Given the description of an element on the screen output the (x, y) to click on. 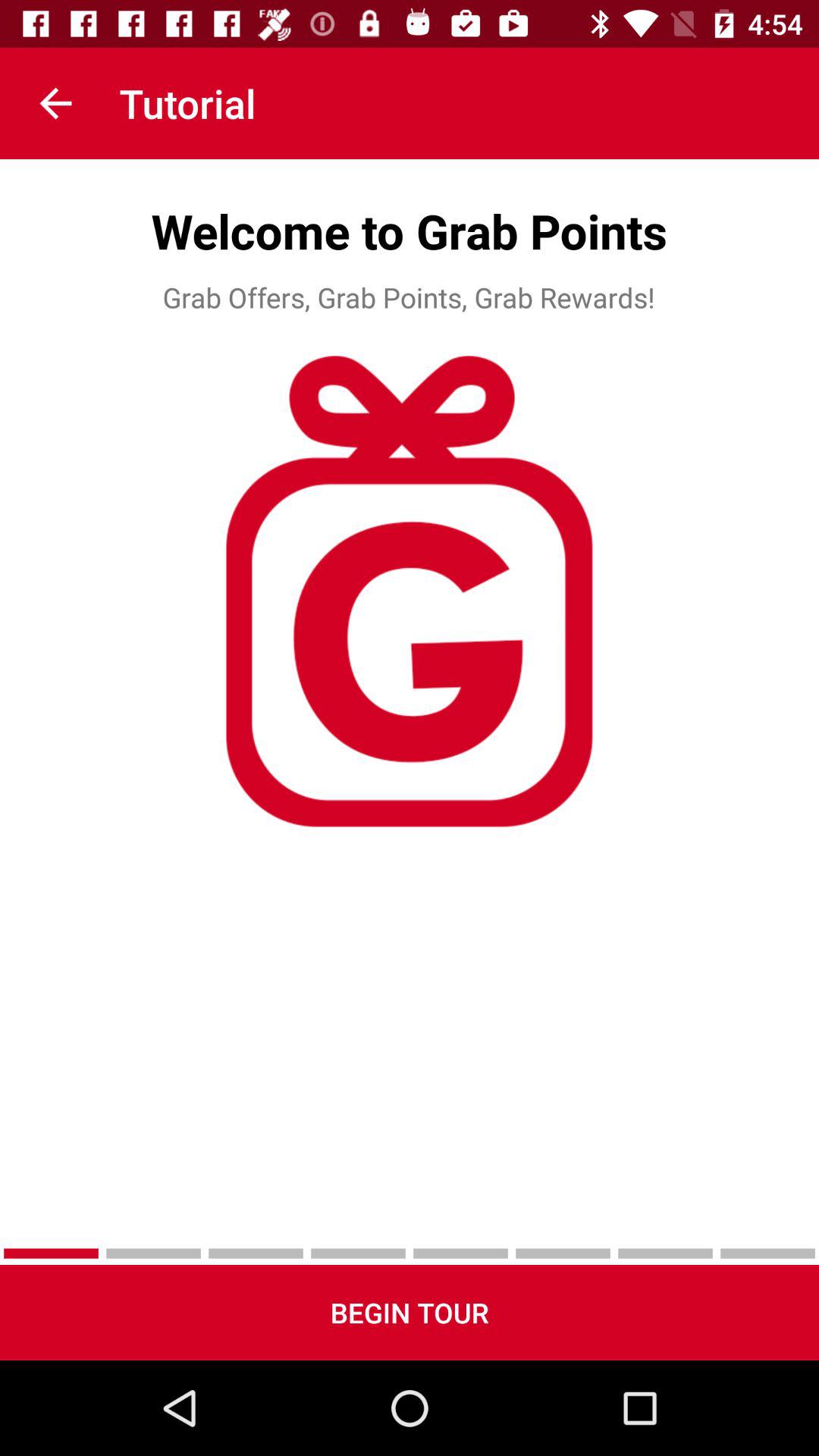
flip to the begin tour (409, 1312)
